Given the description of an element on the screen output the (x, y) to click on. 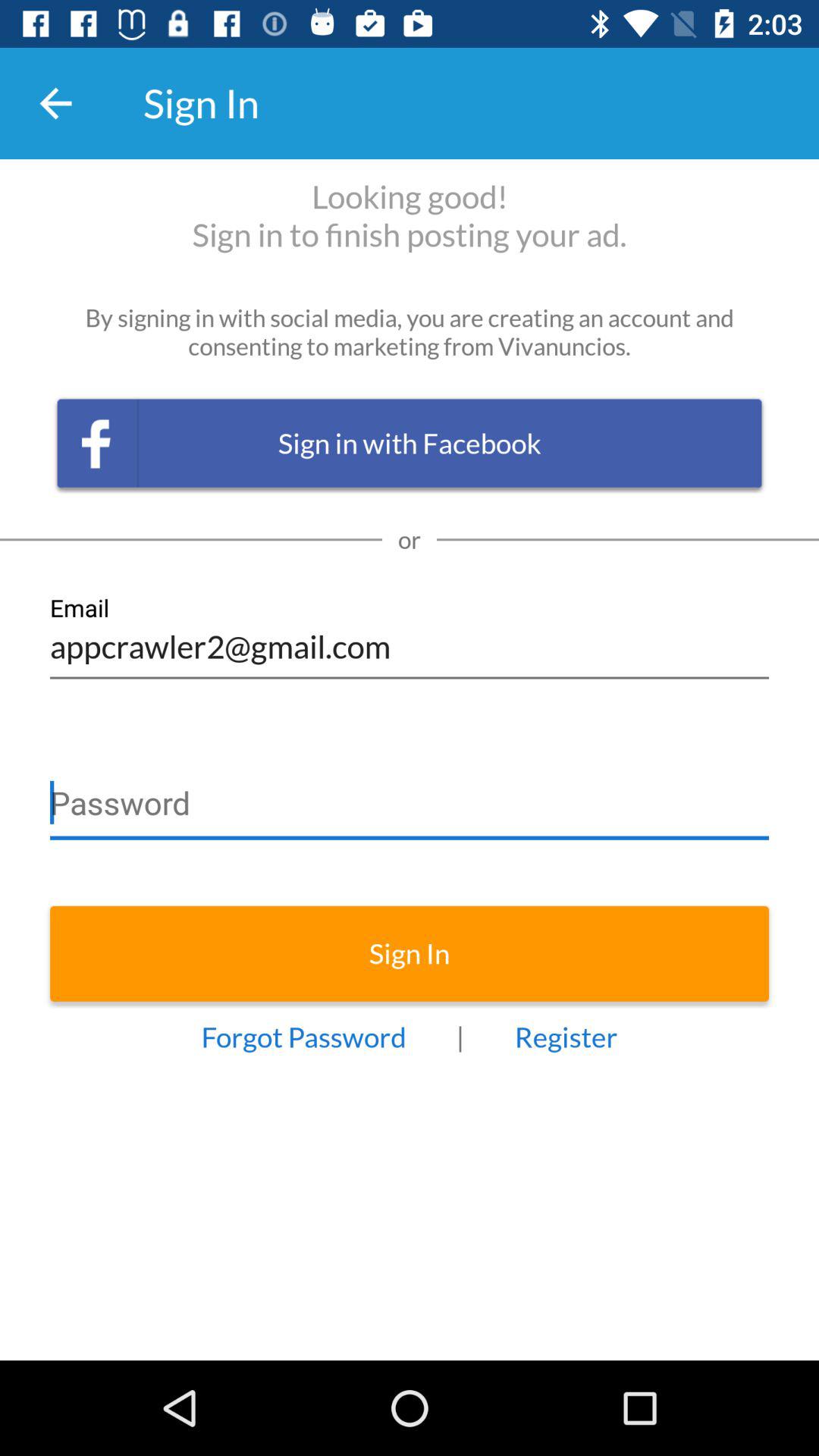
click on the text register (566, 1037)
click on email text box (409, 636)
click on forgot password at the bottom (303, 1037)
click on the text field having the text password (409, 796)
click on sign in (409, 953)
